Given the description of an element on the screen output the (x, y) to click on. 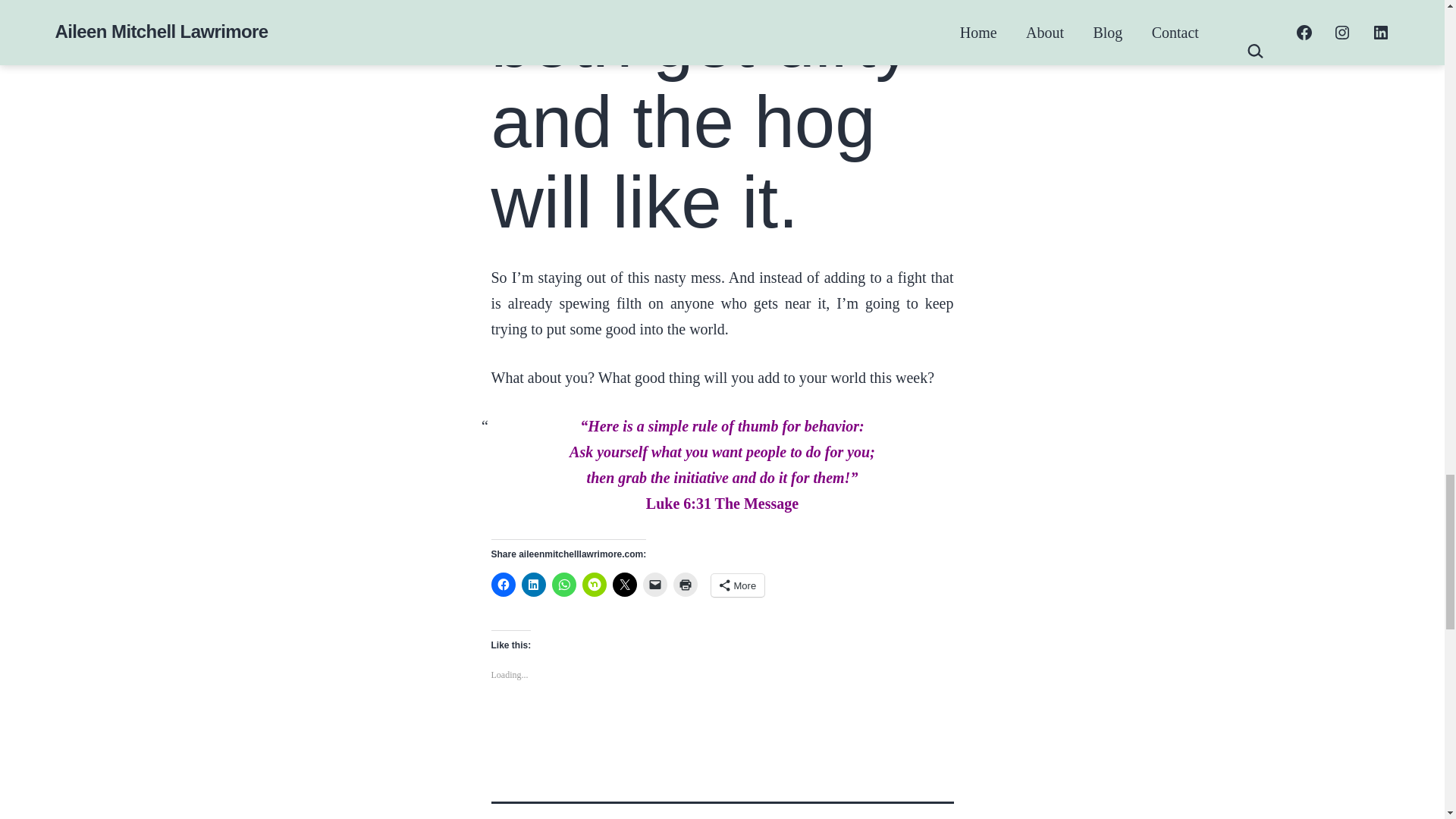
More (738, 585)
Click to share on LinkedIn (533, 584)
Click to print (684, 584)
Click to share on Nextdoor (594, 584)
Click to share on WhatsApp (563, 584)
Click to share on X (624, 584)
Click to share on Facebook (503, 584)
Click to email a link to a friend (654, 584)
